Given the description of an element on the screen output the (x, y) to click on. 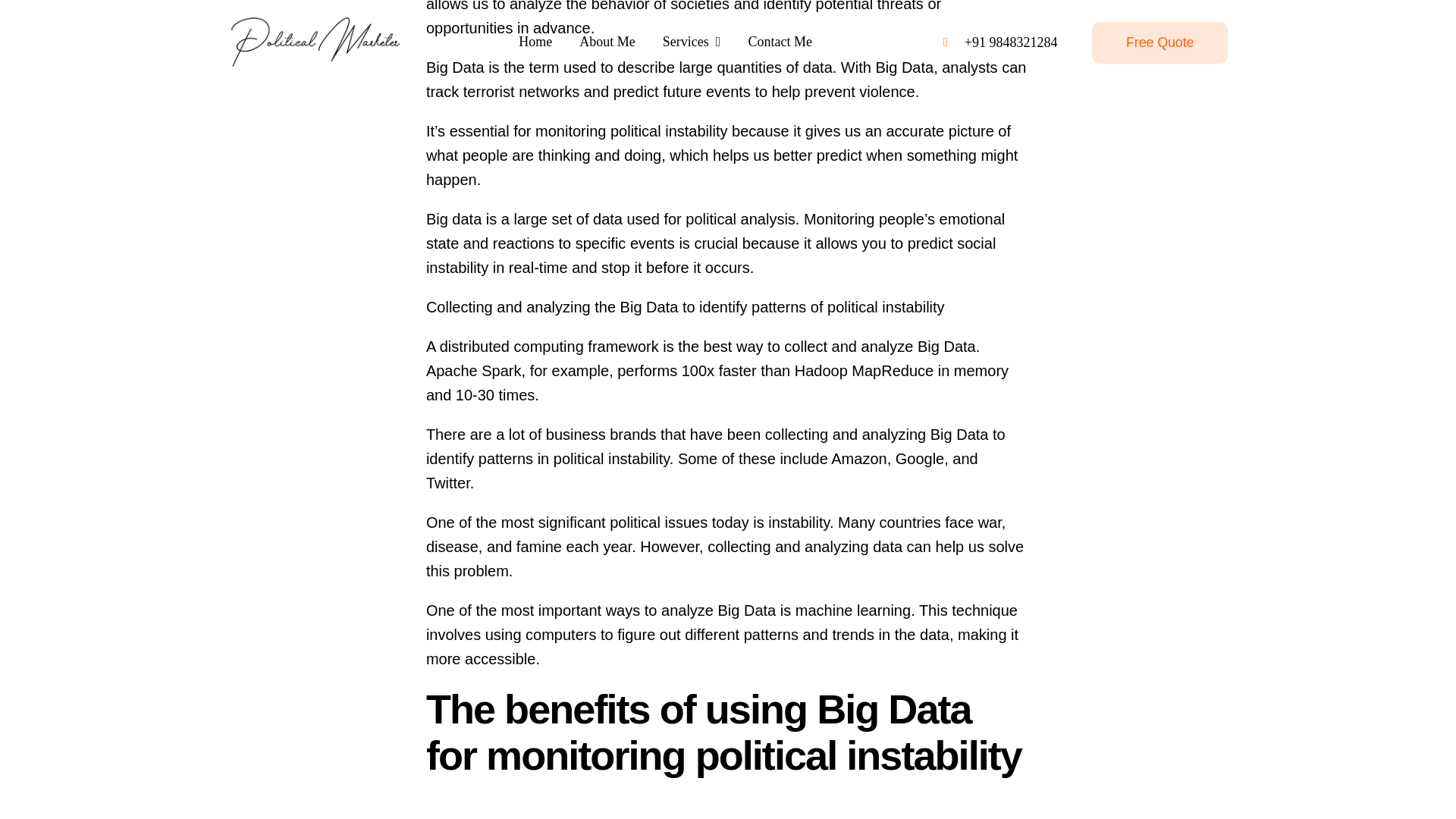
machine learning (852, 610)
